Given the description of an element on the screen output the (x, y) to click on. 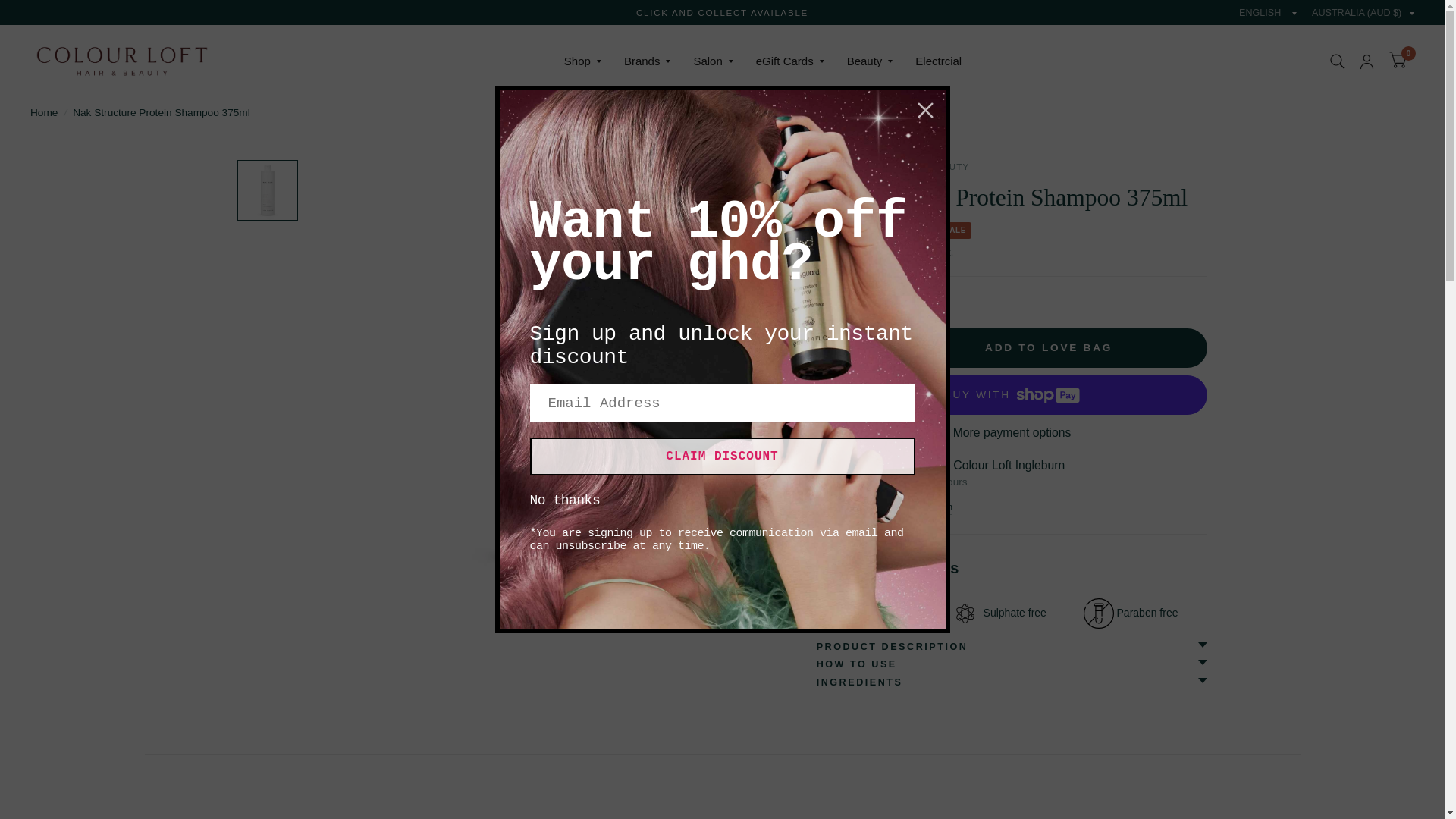
0 Reviews (879, 298)
